Given the description of an element on the screen output the (x, y) to click on. 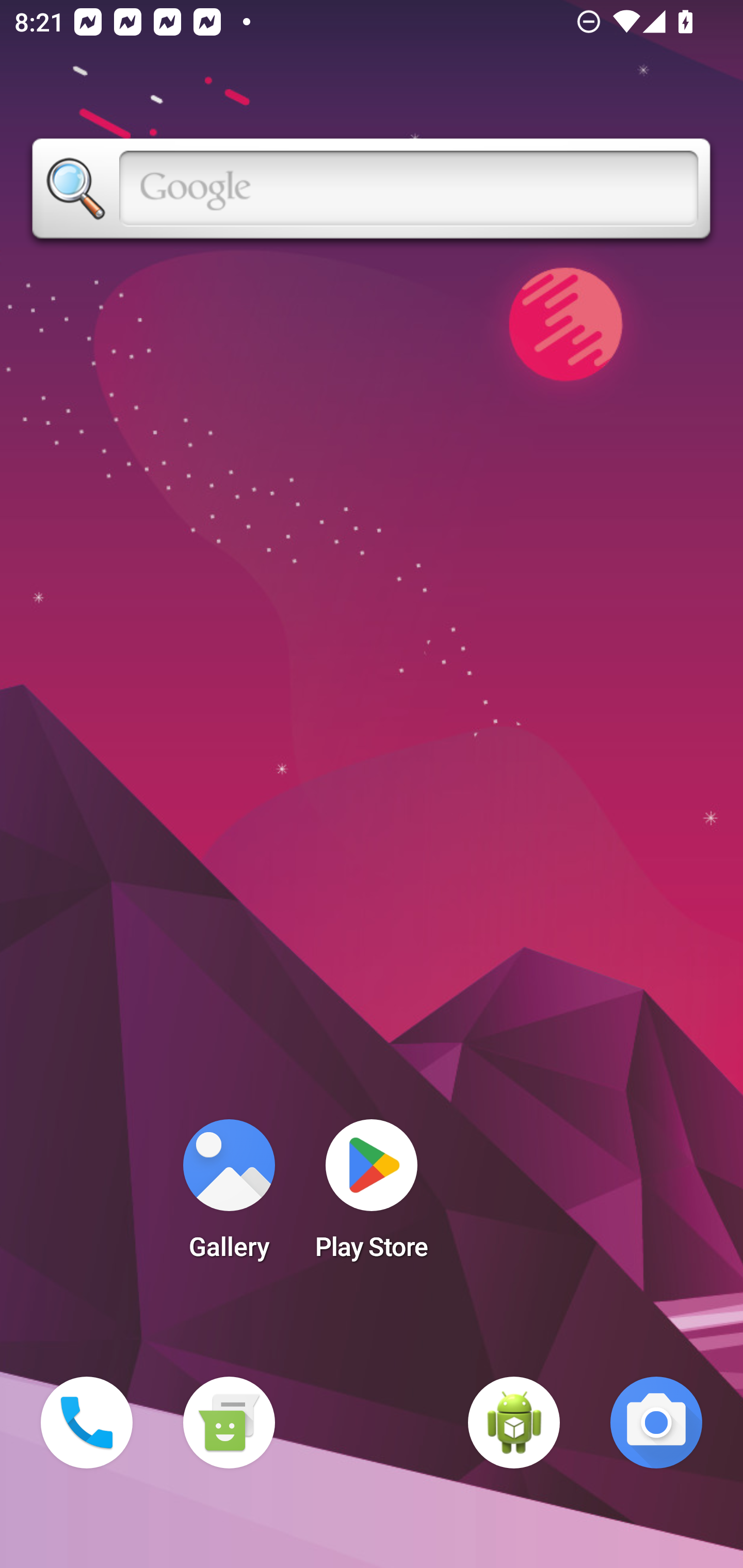
Gallery (228, 1195)
Play Store (371, 1195)
Phone (86, 1422)
Messaging (228, 1422)
WebView Browser Tester (513, 1422)
Camera (656, 1422)
